Given the description of an element on the screen output the (x, y) to click on. 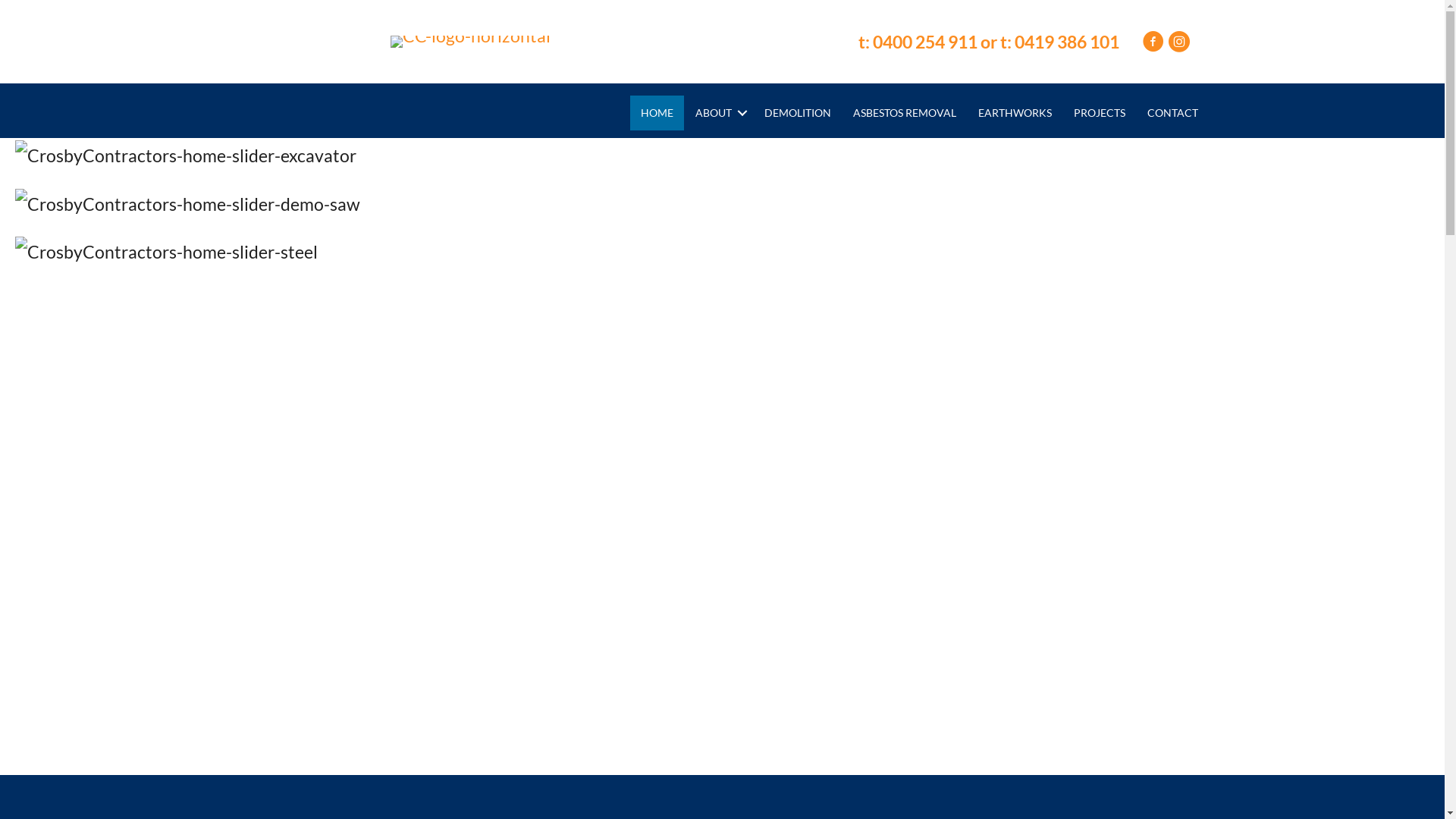
CONTACT Element type: text (1172, 112)
DEMOLITION Element type: text (797, 112)
0400 254 911 Element type: text (924, 41)
ABOUT Element type: text (718, 112)
0419 386 101  Element type: text (1068, 41)
ASBESTOS REMOVAL Element type: text (904, 112)
EARTHWORKS Element type: text (1014, 112)
CC-logo-horizontal Element type: hover (470, 41)
HOME Element type: text (657, 112)
PROJECTS Element type: text (1099, 112)
